Given the description of an element on the screen output the (x, y) to click on. 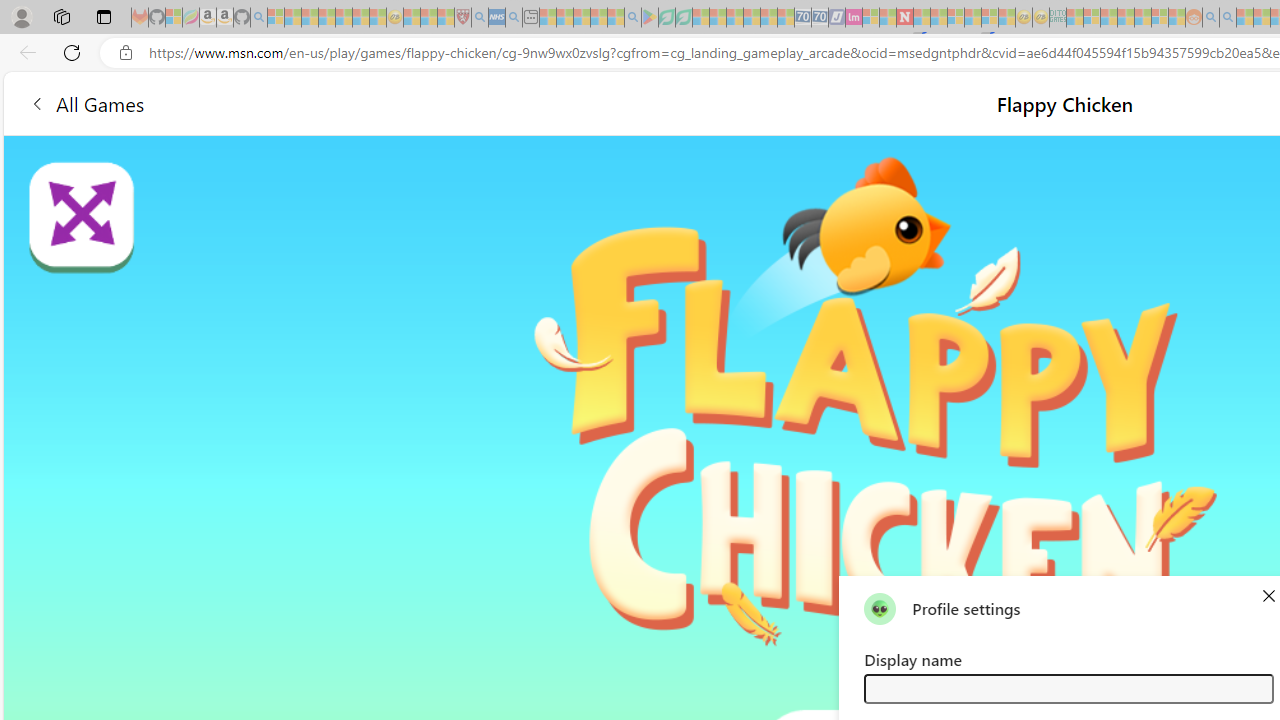
All Games (86, 102)
14 Common Myths Debunked By Scientific Facts - Sleeping (938, 17)
Kinda Frugal - MSN - Sleeping (1142, 17)
Class: text-input (1068, 688)
Latest Politics News & Archive | Newsweek.com - Sleeping (904, 17)
Bluey: Let's Play! - Apps on Google Play - Sleeping (649, 17)
